Given the description of an element on the screen output the (x, y) to click on. 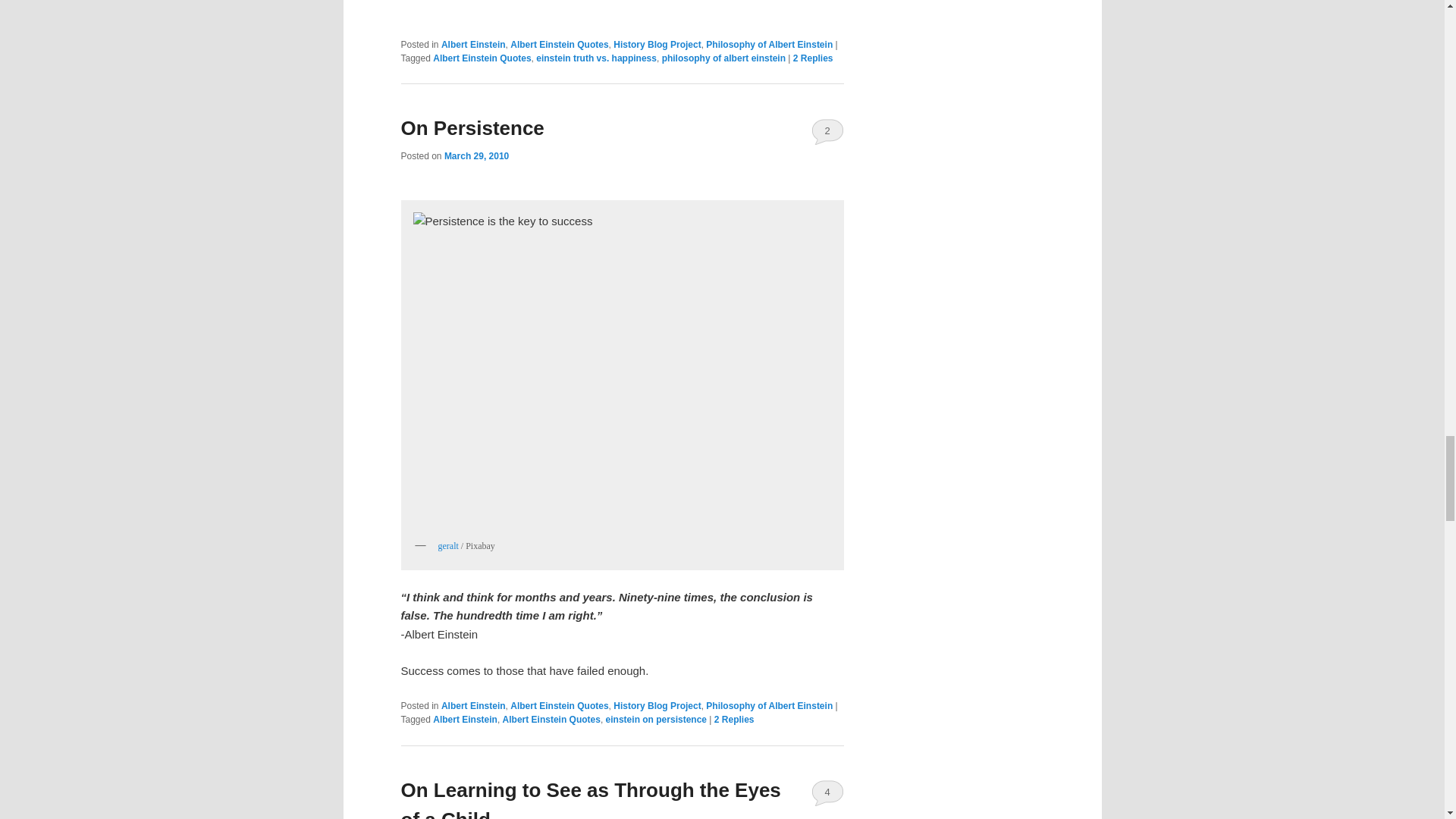
7:35 pm (476, 155)
